Given the description of an element on the screen output the (x, y) to click on. 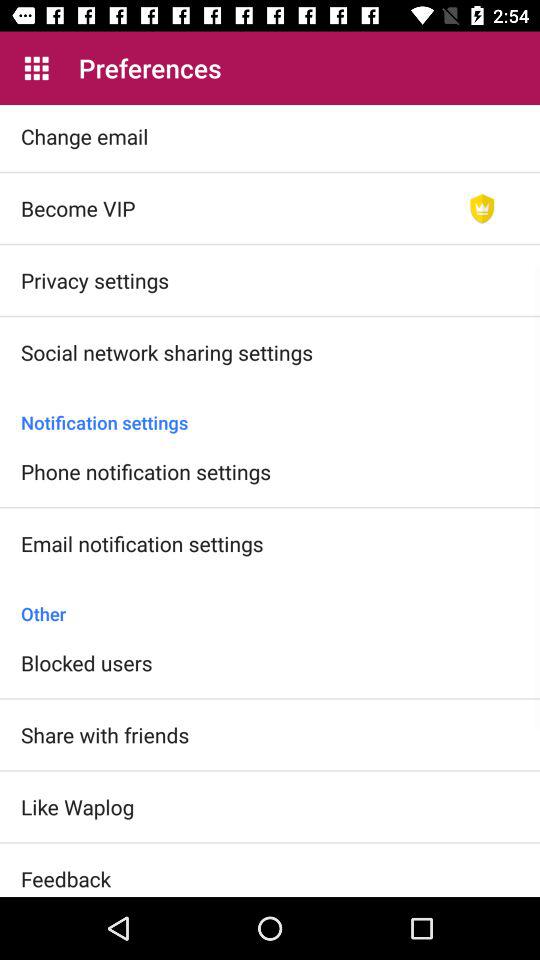
turn on icon above blocked users (270, 603)
